Given the description of an element on the screen output the (x, y) to click on. 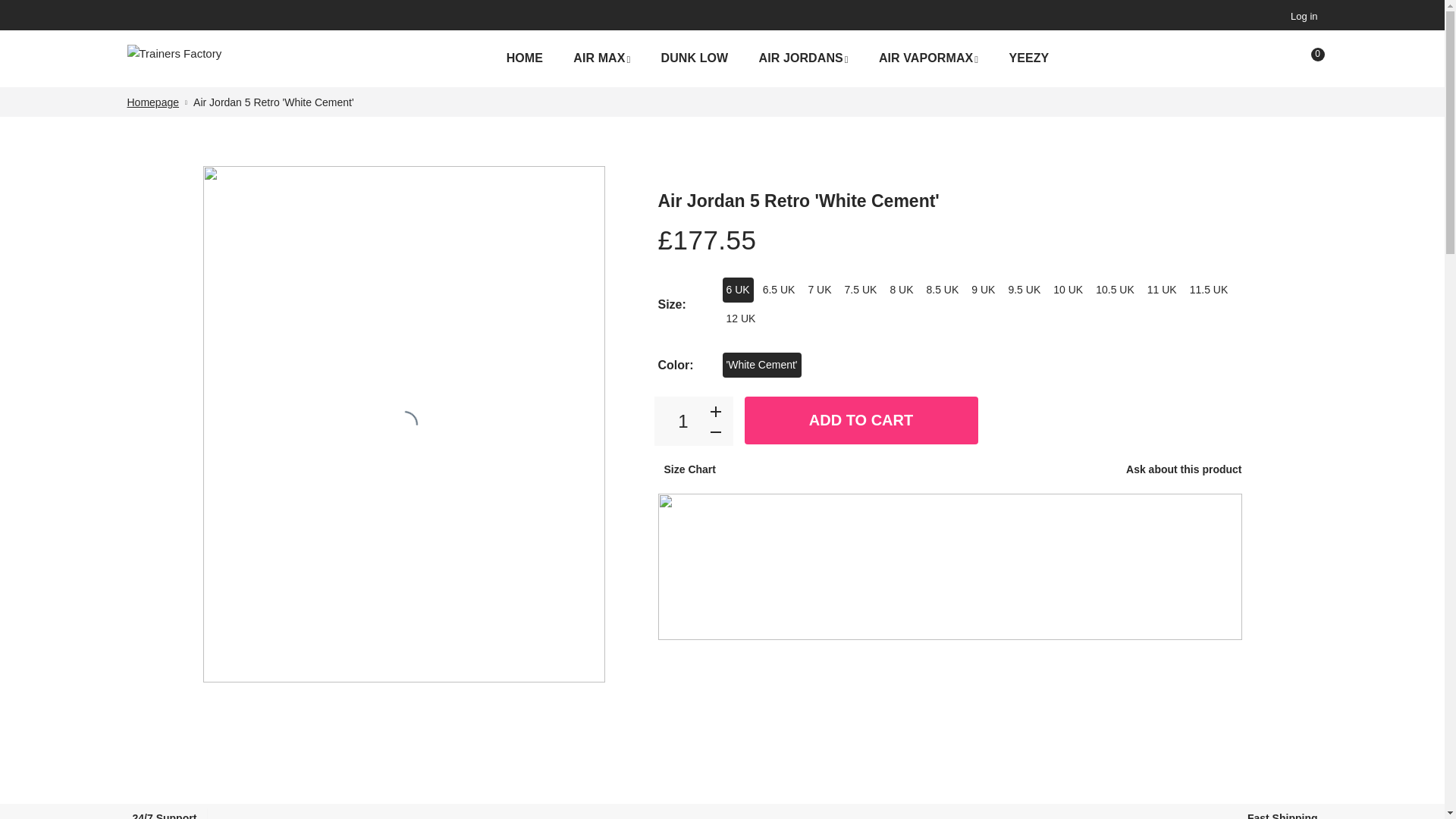
Log in (1301, 16)
AIR JORDANS (802, 58)
AIR MAX (601, 58)
Log in (1301, 16)
HOME (524, 58)
AIR VAPORMAX (927, 58)
DUNK LOW (695, 58)
Homepage (153, 102)
